Given the description of an element on the screen output the (x, y) to click on. 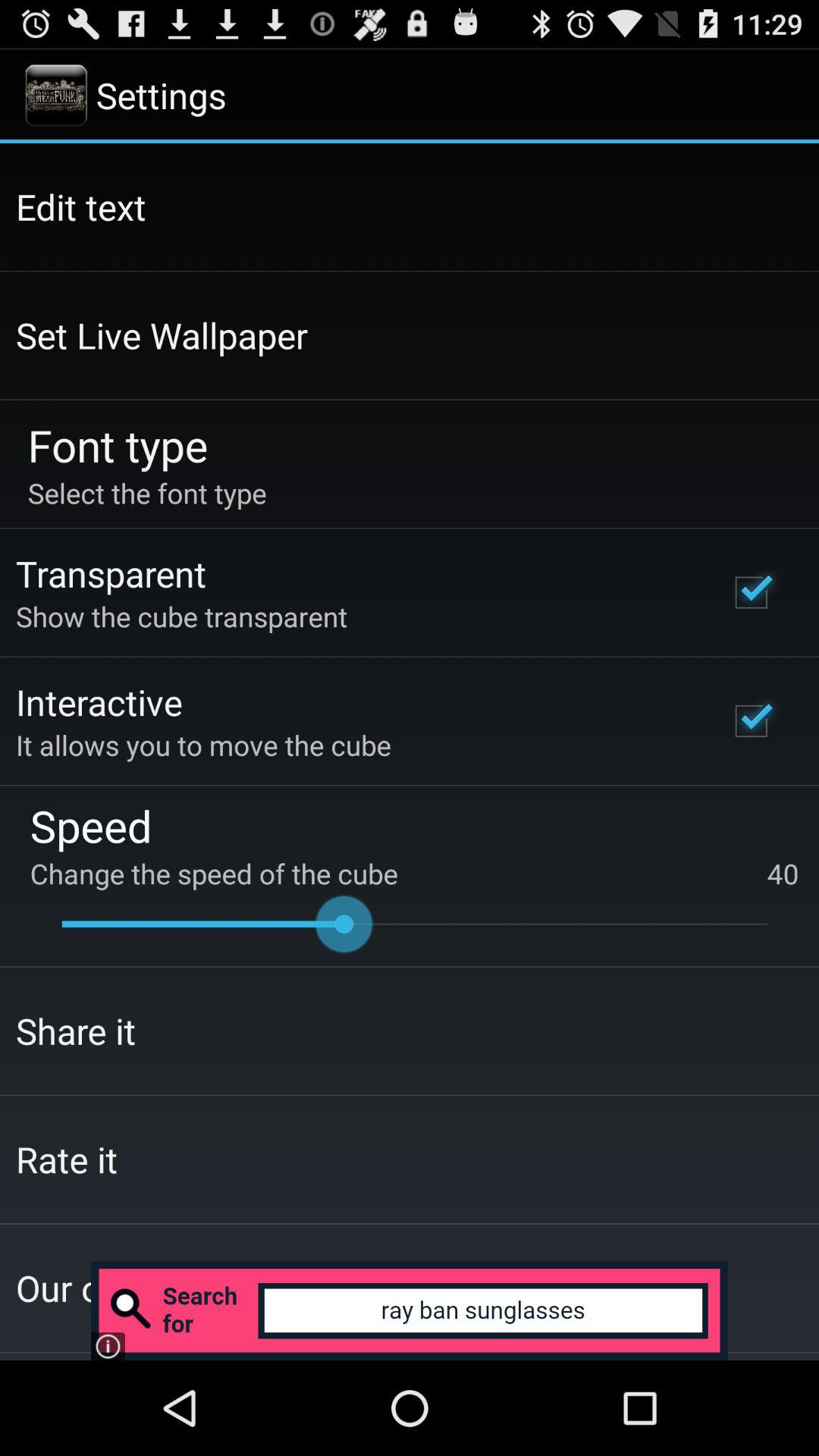
turn on the icon below interactive app (203, 744)
